Given the description of an element on the screen output the (x, y) to click on. 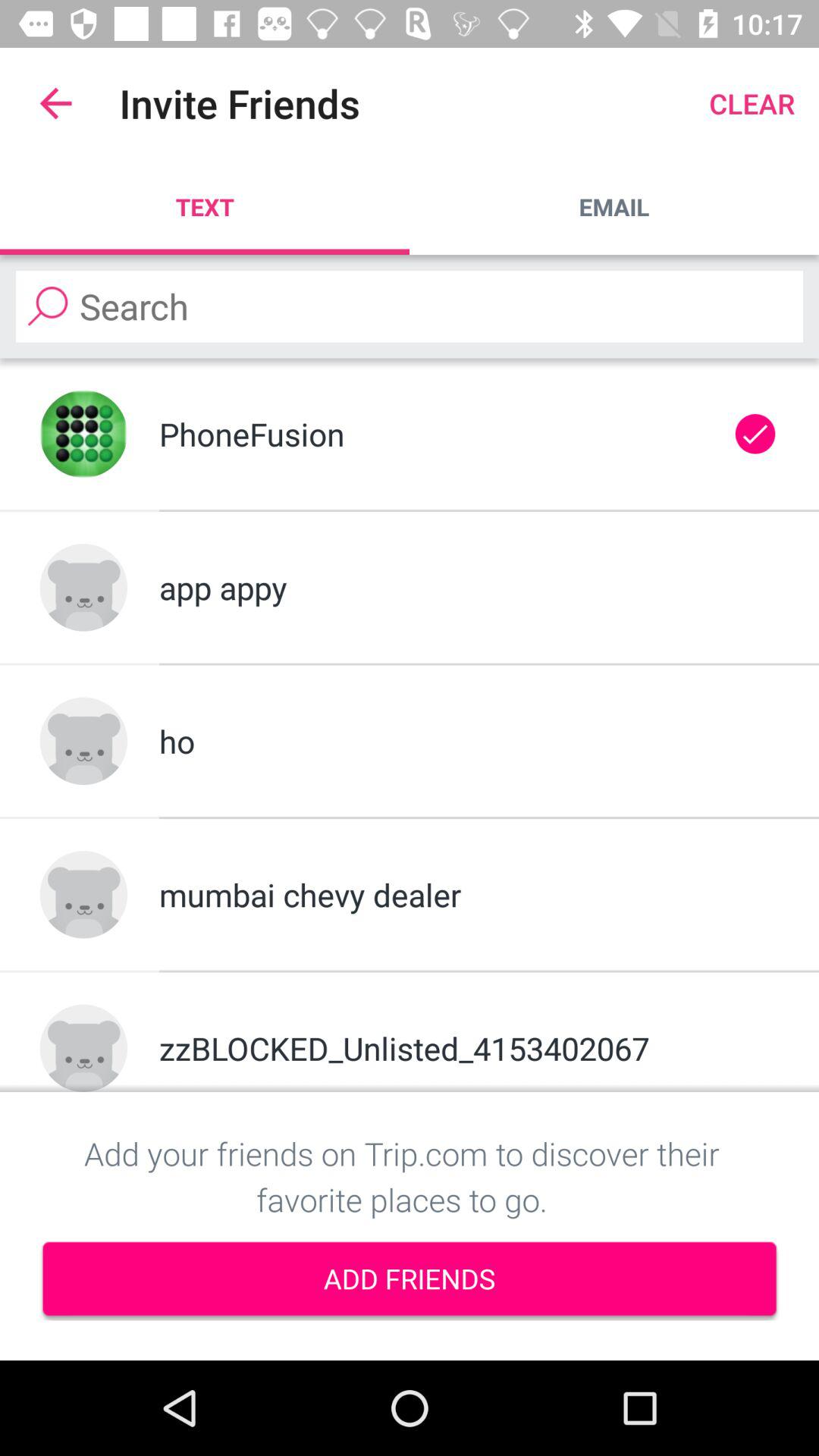
choose the icon above the zzblocked_unlisted_4153402067 item (469, 894)
